Given the description of an element on the screen output the (x, y) to click on. 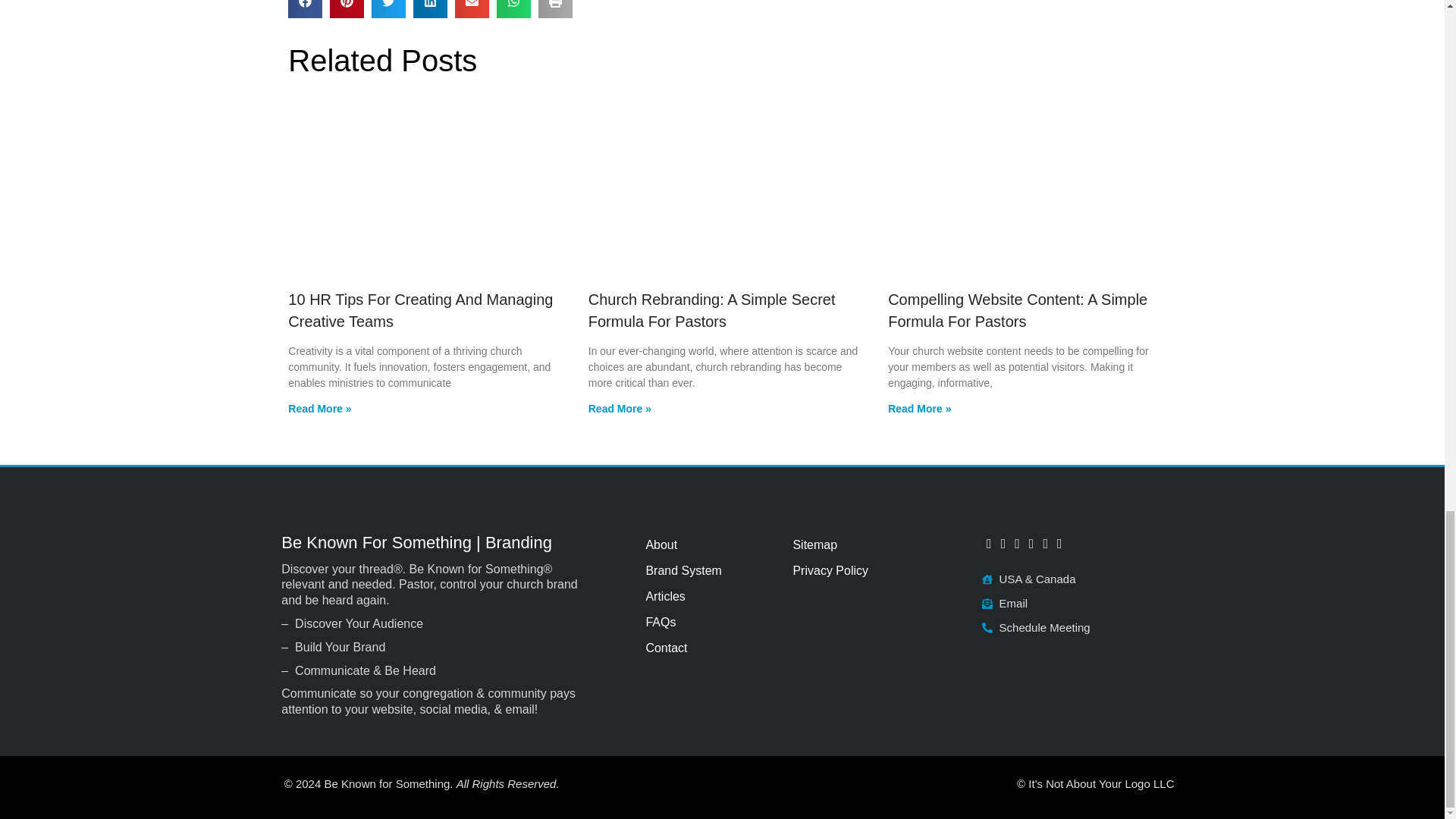
Contact (709, 647)
Church Rebranding: A Simple Secret Formula For Pastors (711, 310)
About (709, 544)
10 HR Tips For Creating And Managing Creative Teams (420, 310)
Articles (709, 596)
FAQs (709, 622)
Brand System (709, 570)
Compelling Website Content: A Simple Formula For Pastors (1017, 310)
